Given the description of an element on the screen output the (x, y) to click on. 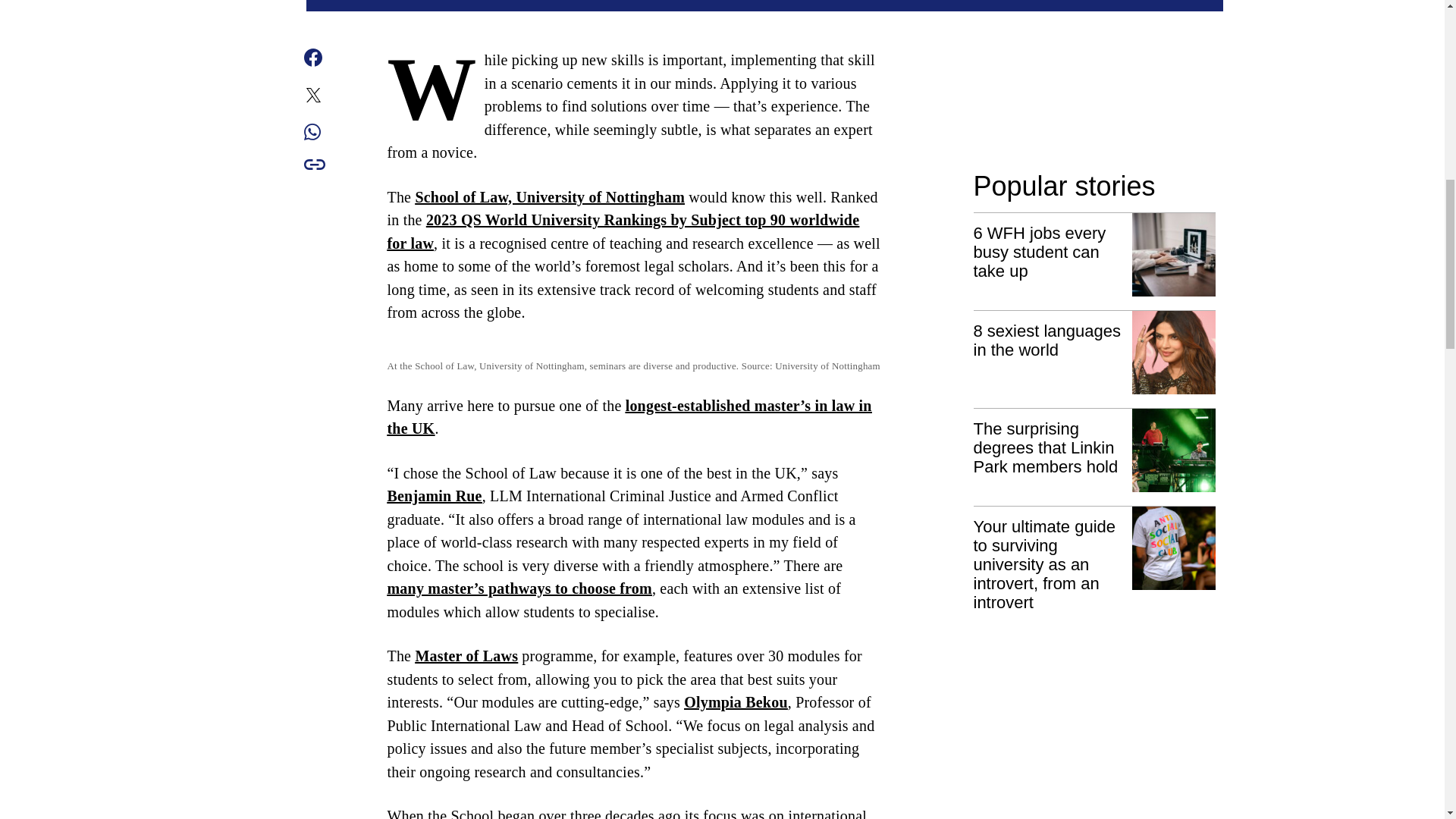
Benjamin Rue (434, 495)
Olympia Bekou (735, 701)
Master of Laws (466, 655)
School of Law, University of Nottingham (549, 196)
